Given the description of an element on the screen output the (x, y) to click on. 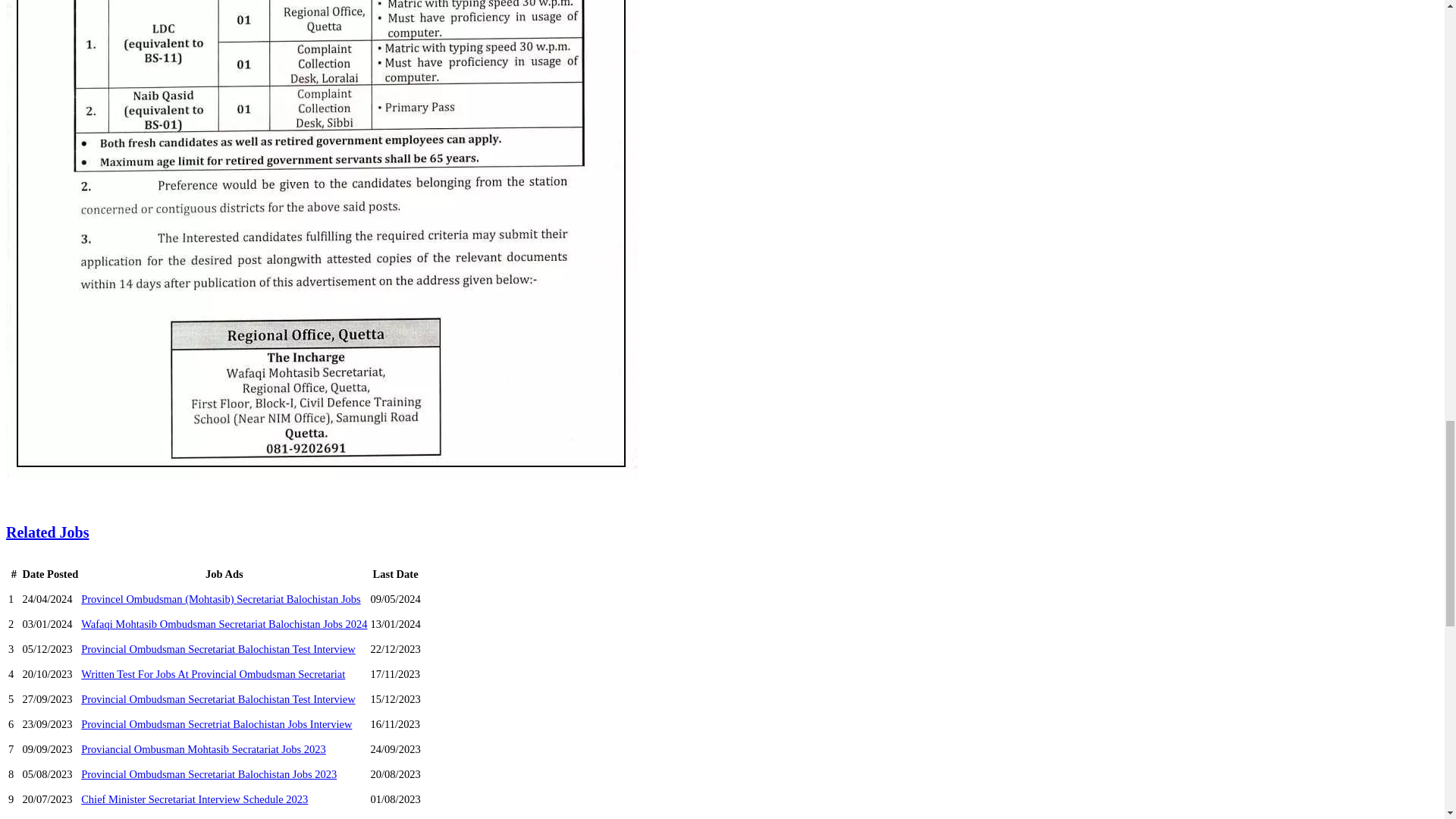
Provincial Ombudsman Secretriat Balochistan Jobs Interview (216, 724)
Written Test For Jobs At Provincial Ombudsman Secretariat (213, 674)
Provincial Ombudsman Secretariat Balochistan Test Interview (218, 648)
Wafaqi Mohtasib Ombudsman Secretariat Balochistan Jobs 2024 (223, 623)
Provincial Ombudsman Secretariat Balochistan Test Interview (218, 698)
Related Jobs (46, 532)
